Given the description of an element on the screen output the (x, y) to click on. 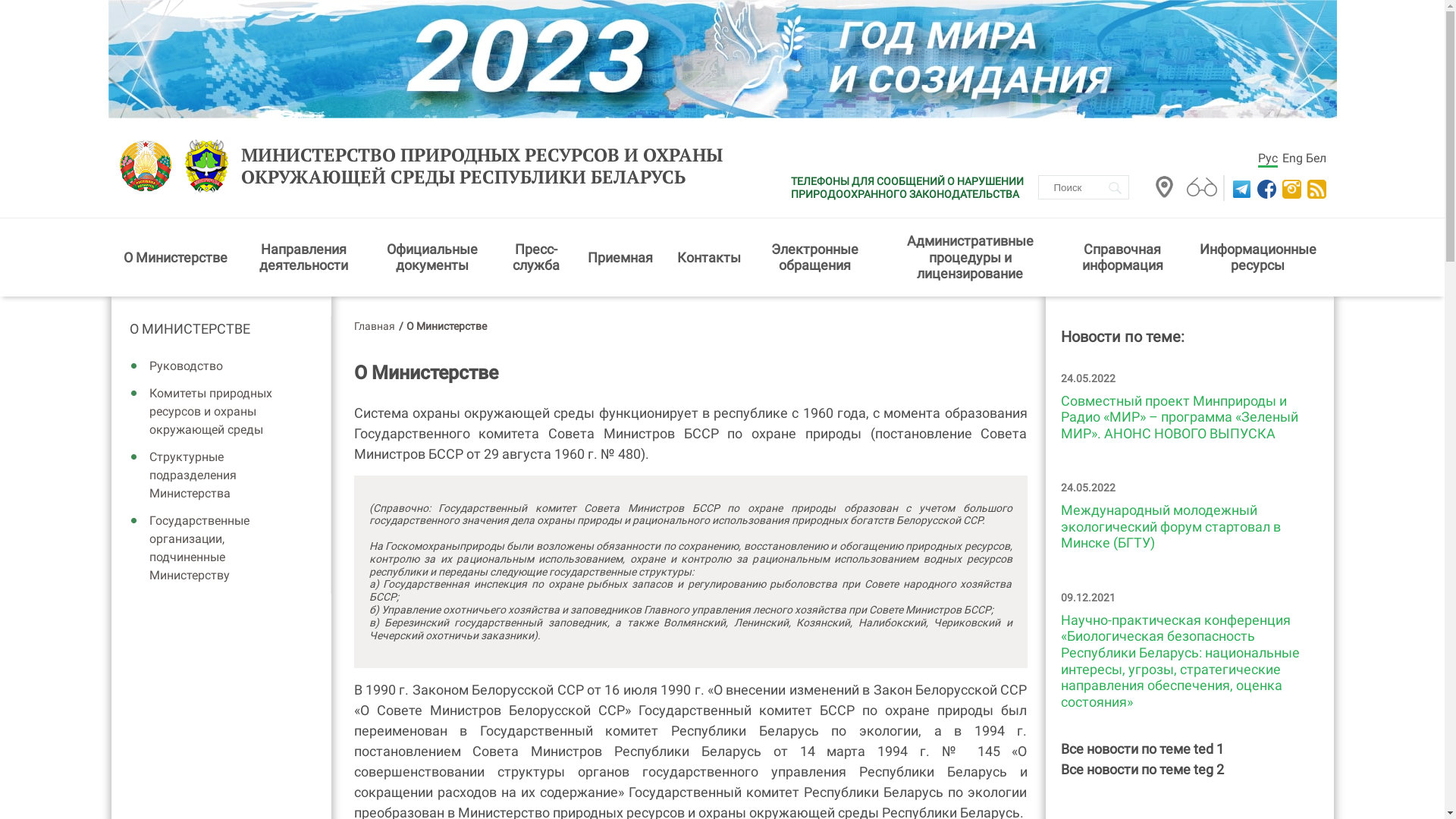
Eng Element type: text (1291, 157)
Telegram Element type: hover (1240, 188)
Facebook Element type: hover (1266, 188)
RSS Element type: hover (1315, 188)
RSS Element type: hover (1316, 188)
Instagram Element type: hover (1289, 188)
Facebook Element type: hover (1265, 188)
Telegram Element type: hover (1239, 188)
Instagram Element type: hover (1290, 188)
